Given the description of an element on the screen output the (x, y) to click on. 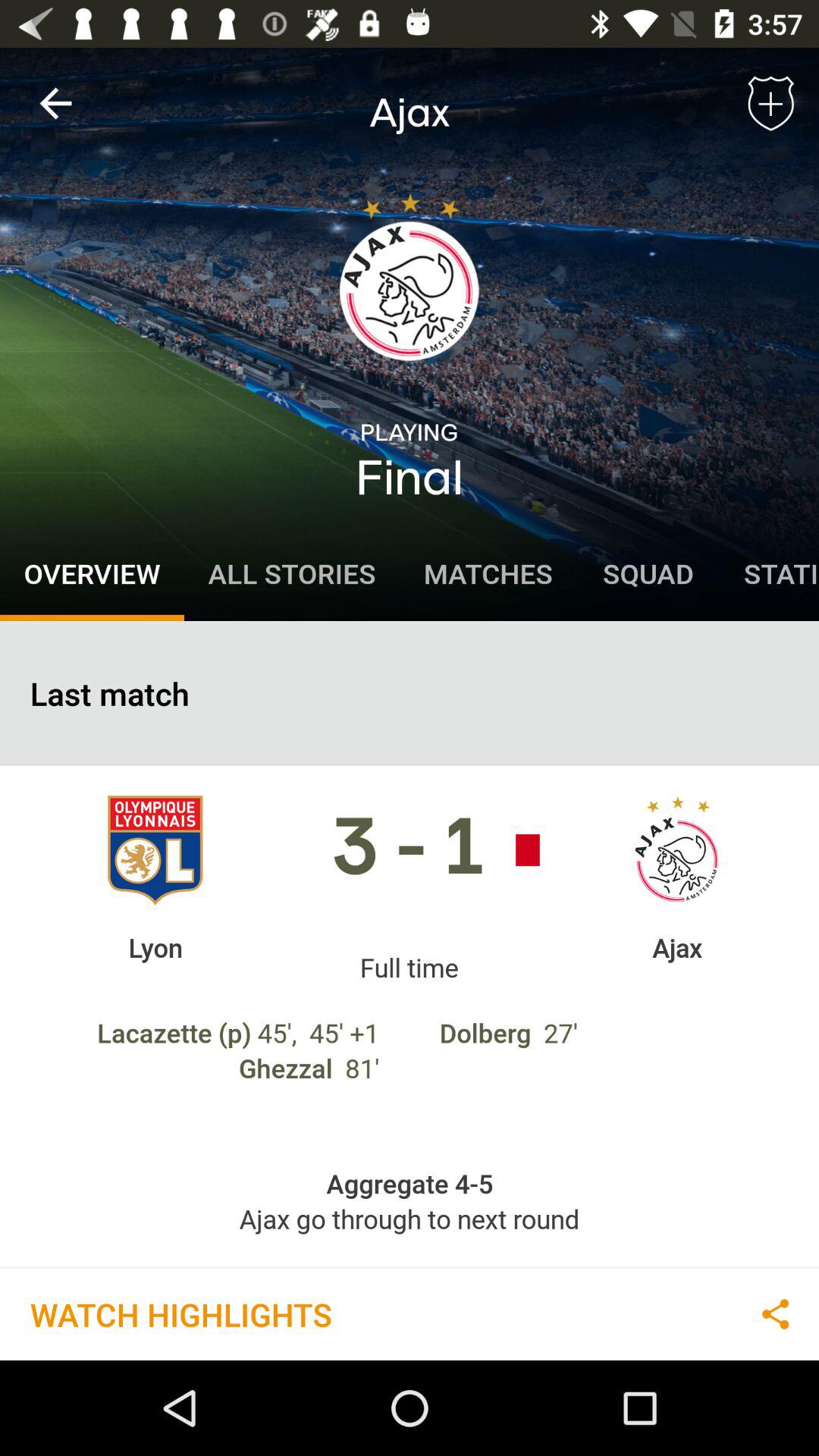
jump to watch highlights item (181, 1313)
